Given the description of an element on the screen output the (x, y) to click on. 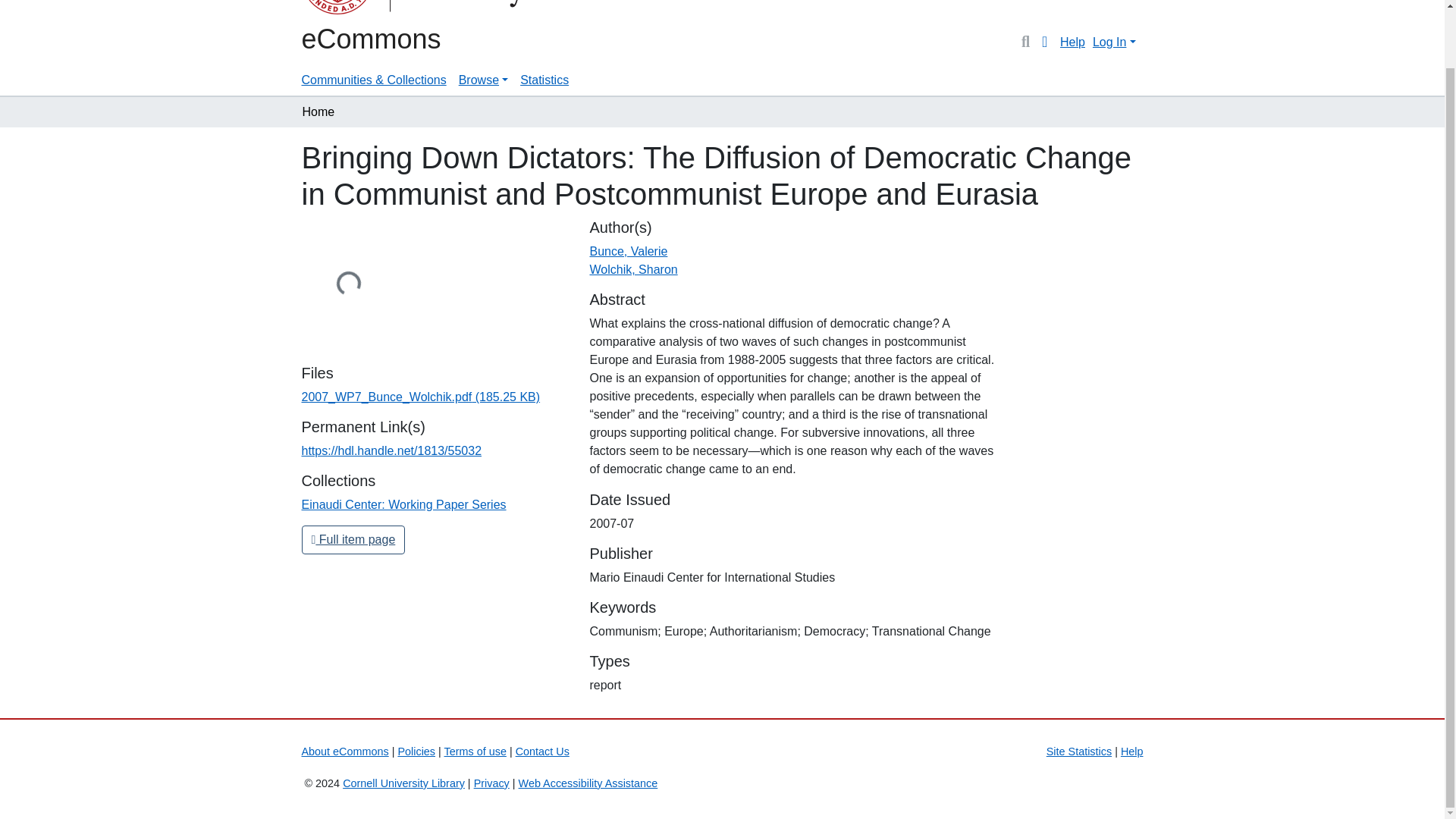
Terms of use (475, 751)
Cornell University Library (403, 783)
Cornell University (339, 9)
Wolchik, Sharon (633, 269)
Help (1131, 751)
Search (1025, 42)
Full item page (353, 539)
Policies (416, 751)
Log In (1113, 42)
Web Accessibility Assistance (588, 783)
Help (1071, 42)
Privacy (491, 783)
Language switch (1044, 42)
eCommons (371, 38)
Site Statistics (1079, 751)
